Given the description of an element on the screen output the (x, y) to click on. 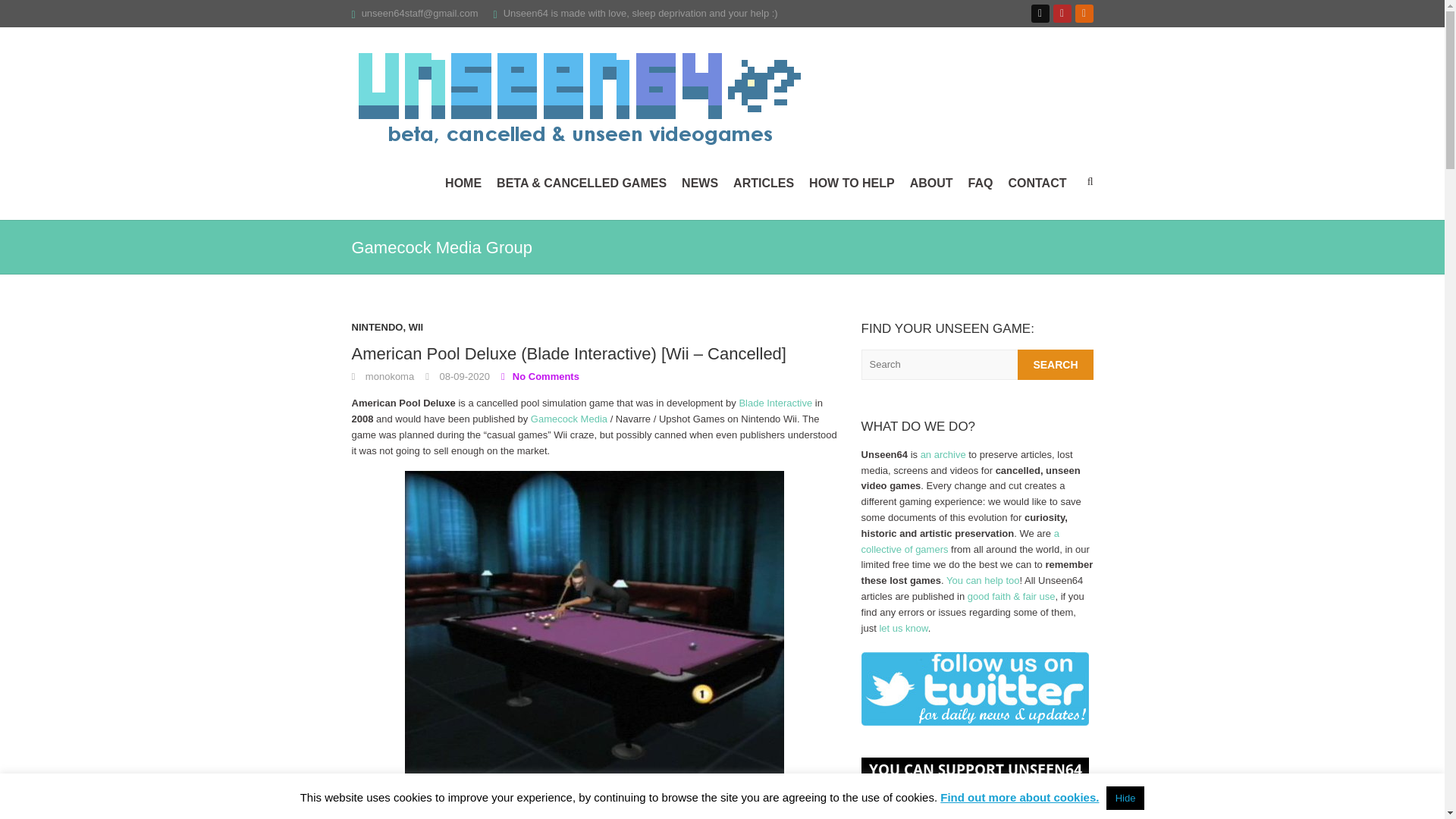
HOW TO HELP (852, 183)
Search (1055, 364)
NINTENDO (377, 331)
Blade Interactive (775, 402)
18:04 (457, 376)
No Comments (539, 376)
CONTACT (1036, 183)
08-09-2020 (457, 376)
can still be found on Amazon (531, 809)
ARTICLES (763, 183)
monokoma (383, 376)
 Mail Us  (420, 12)
Search (1055, 364)
Gamecock Media (569, 419)
